Given the description of an element on the screen output the (x, y) to click on. 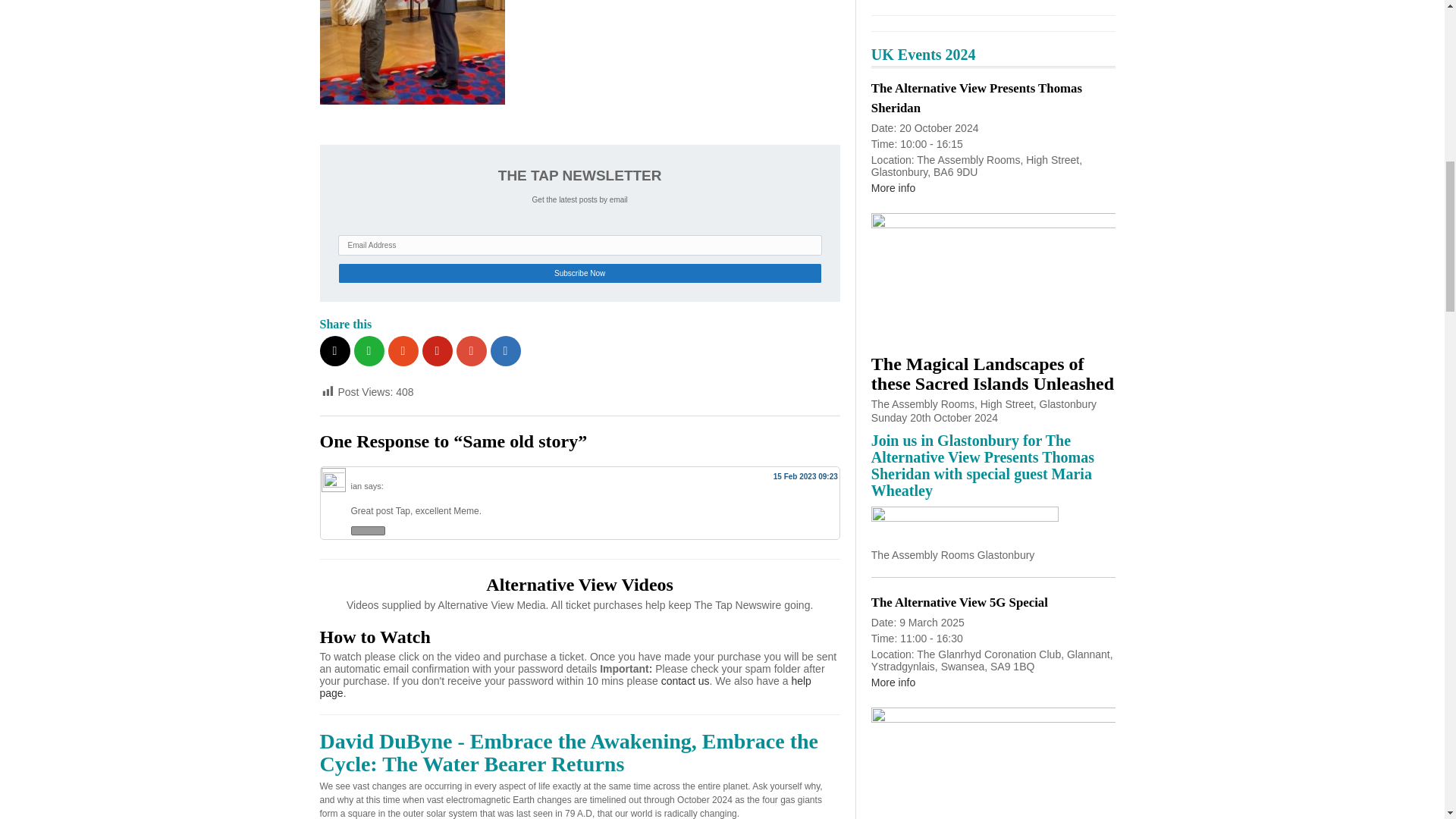
help page (565, 686)
More info (892, 682)
15 Feb 2023 09:23 (805, 476)
contact us (685, 680)
Subscribe Now (579, 272)
More info (892, 187)
Subscribe Now (579, 272)
